Given the description of an element on the screen output the (x, y) to click on. 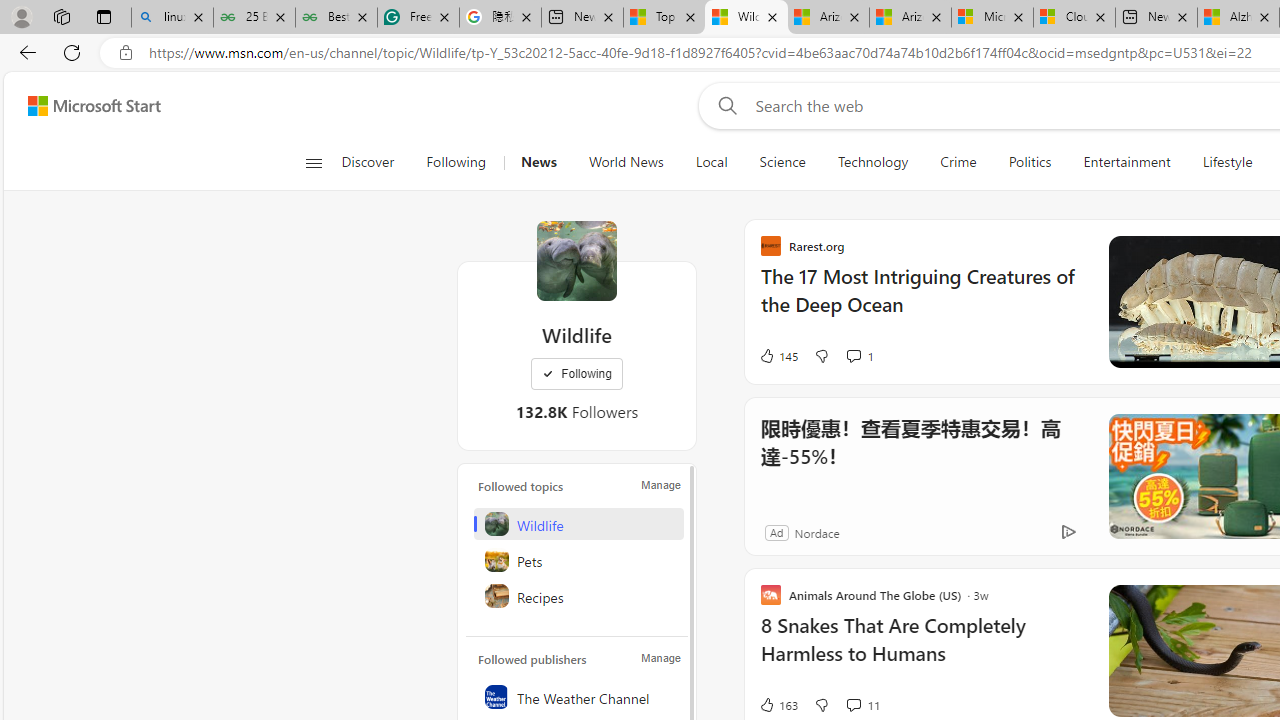
Pets (578, 560)
View comments 11 Comment (862, 704)
